Given the description of an element on the screen output the (x, y) to click on. 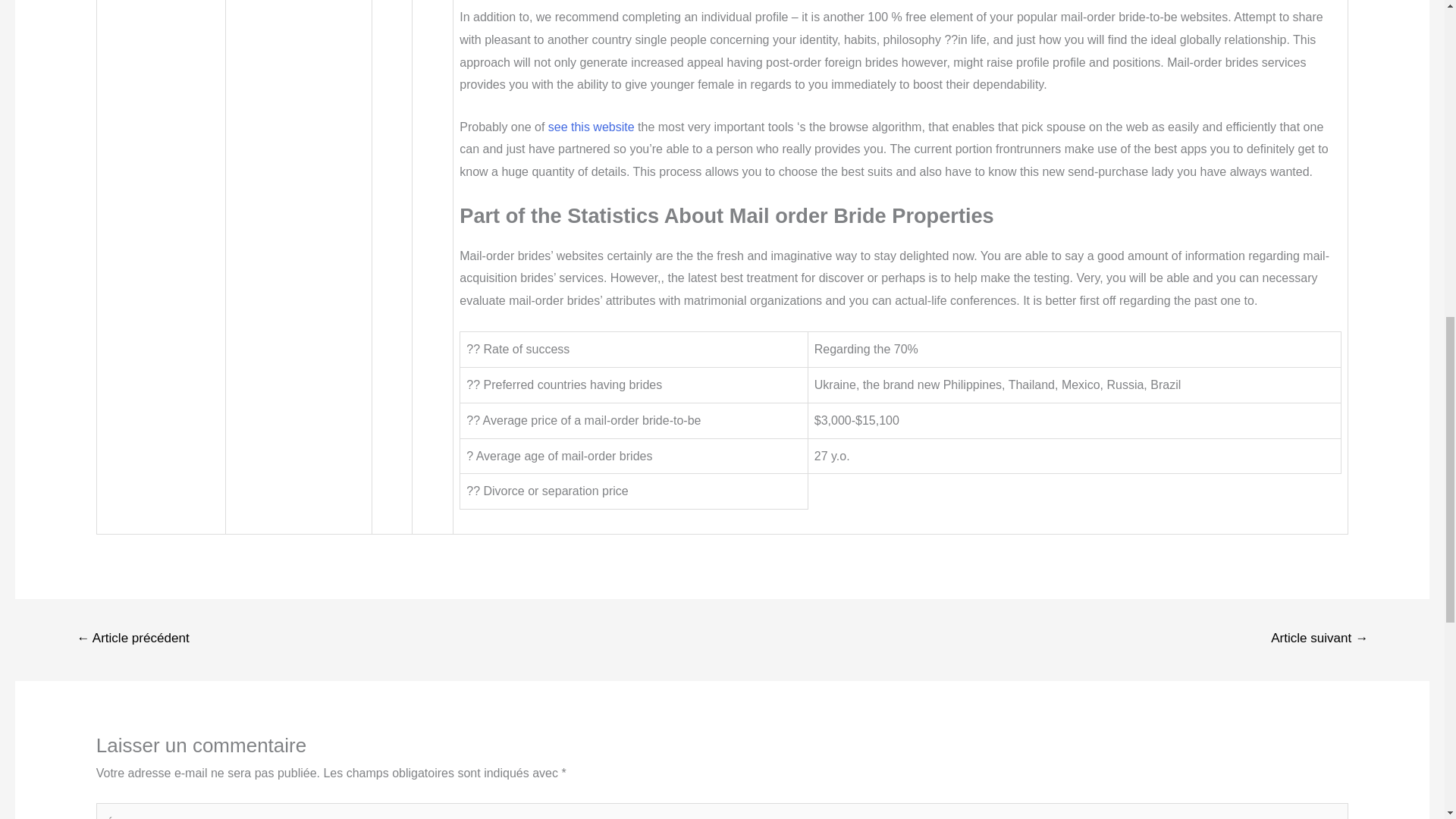
see this website (591, 126)
